Given the description of an element on the screen output the (x, y) to click on. 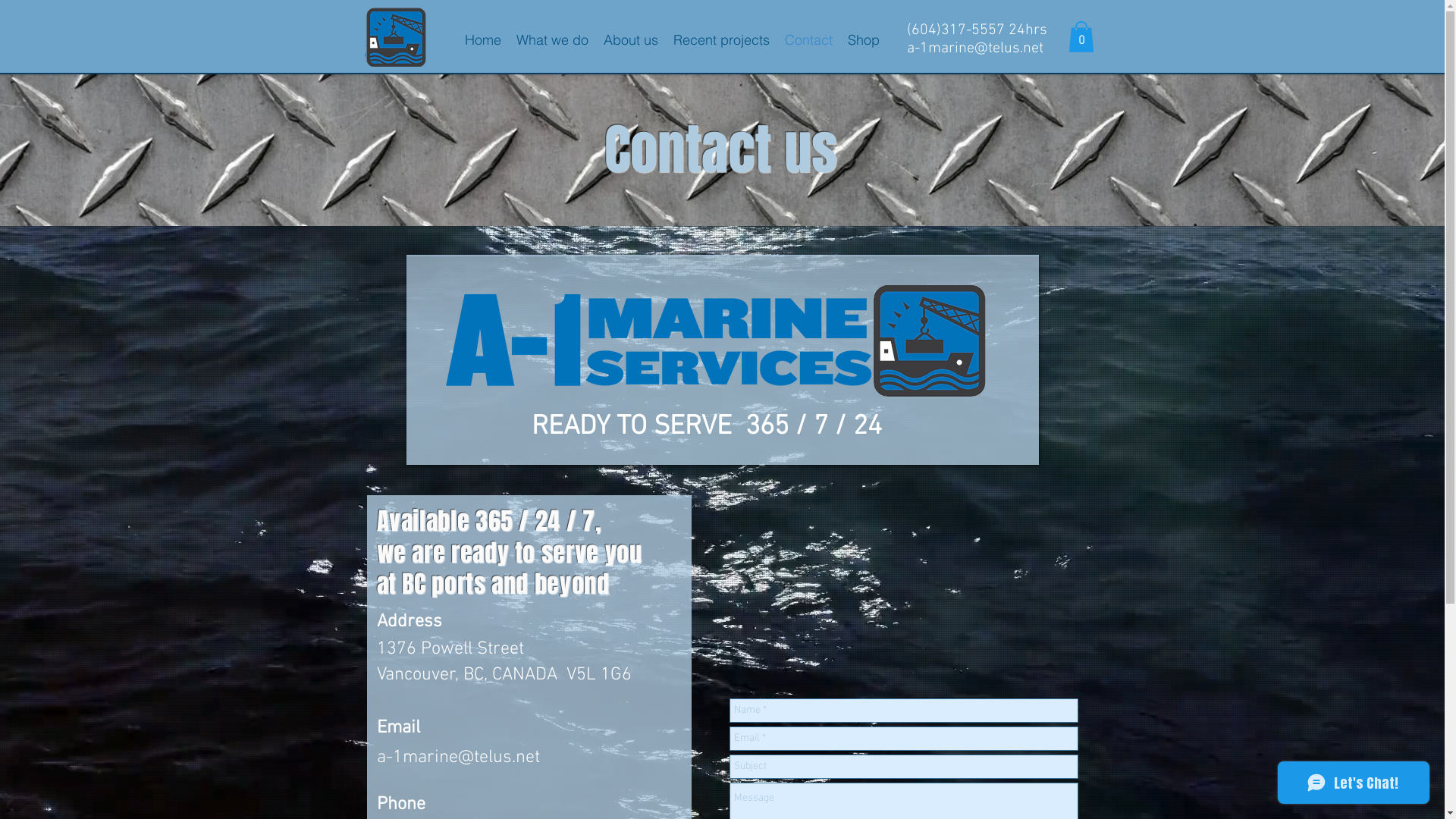
What we do Element type: text (551, 39)
Shop Element type: text (863, 39)
Recent projects Element type: text (721, 39)
About us Element type: text (630, 39)
a-1marine@telus.net Element type: text (457, 757)
Home Element type: text (482, 39)
Google Maps Element type: hover (903, 574)
a-1marine@telus.net Element type: text (974, 48)
0 Element type: text (1080, 36)
Contact Element type: text (807, 39)
